Given the description of an element on the screen output the (x, y) to click on. 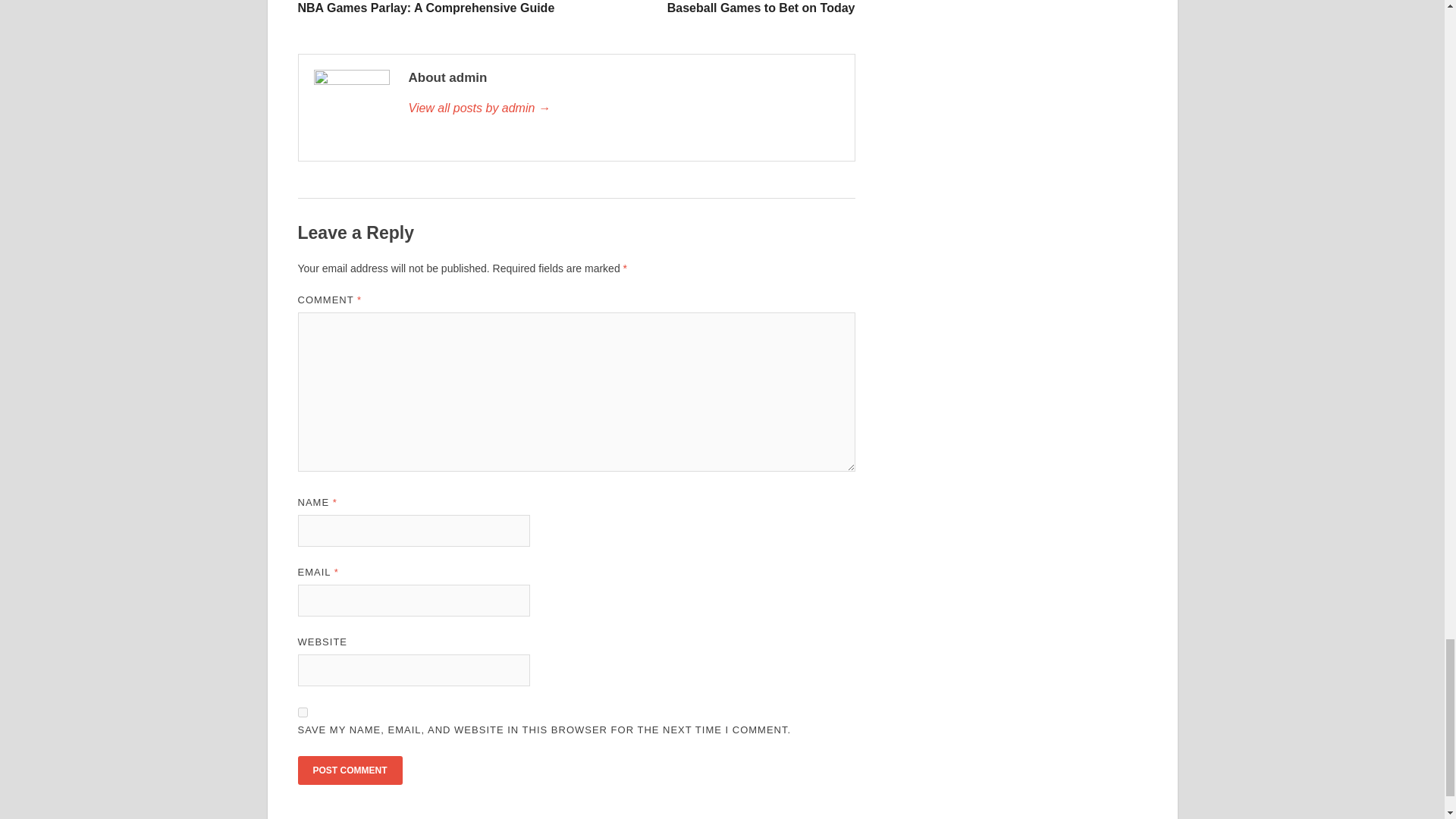
Post Comment (349, 769)
yes (717, 7)
Post Comment (302, 712)
admin (349, 769)
